Given the description of an element on the screen output the (x, y) to click on. 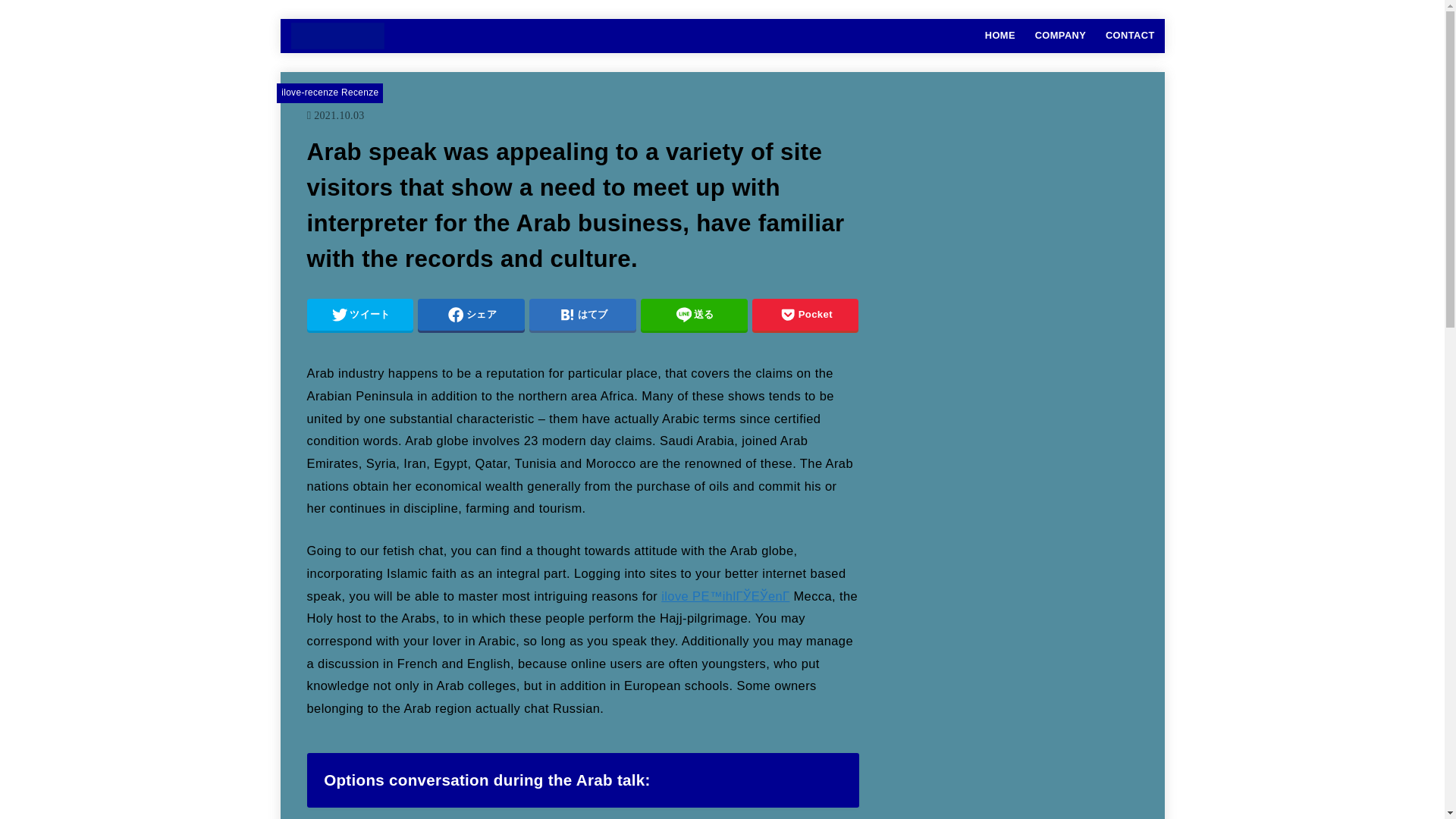
COMPANY (1060, 35)
CONTACT (1129, 35)
HOME (1000, 35)
ilove-recenze Recenze (329, 91)
Pocket (805, 314)
